Given the description of an element on the screen output the (x, y) to click on. 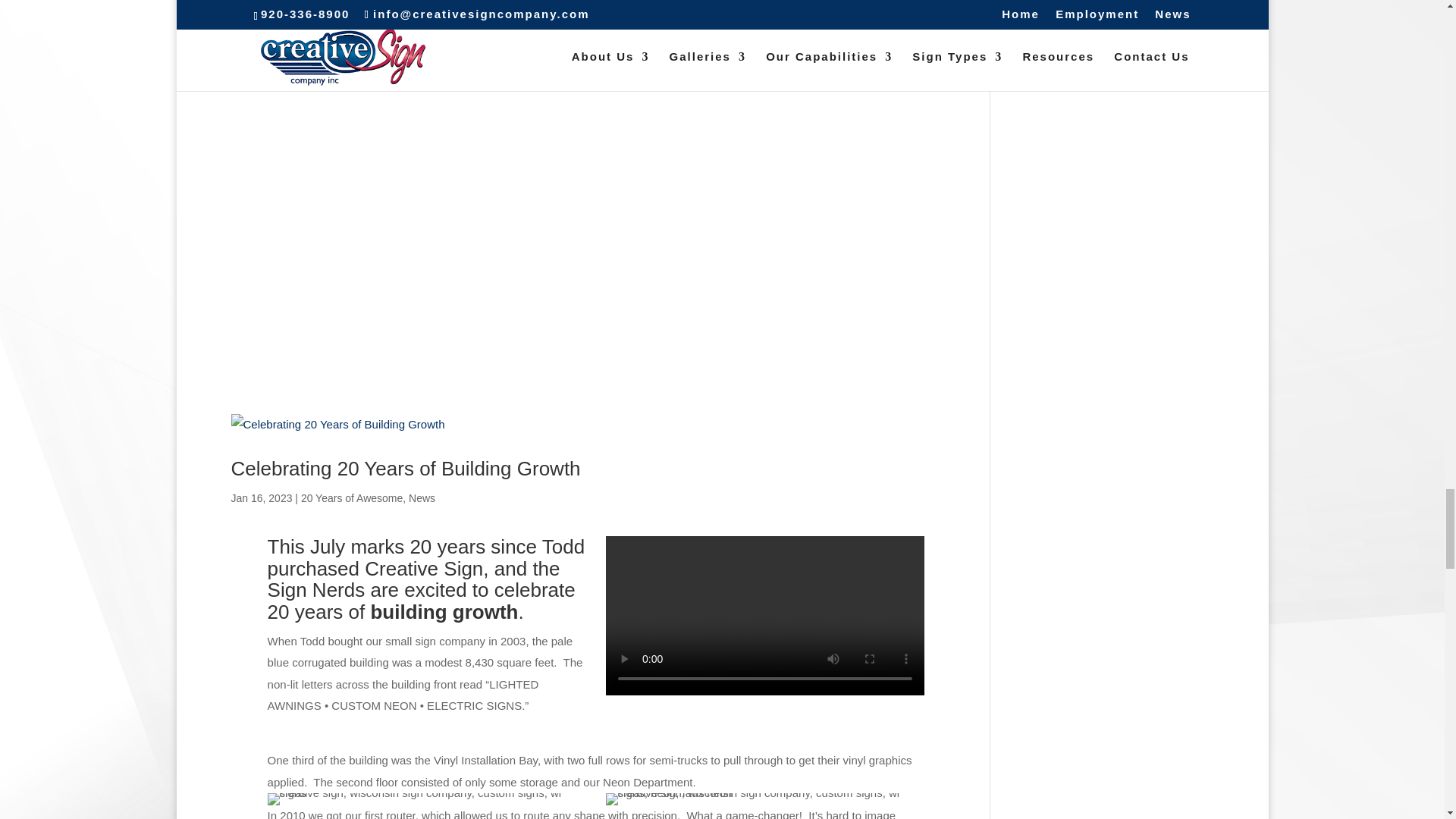
CSletters-2 (764, 799)
WSA Award Winner (426, 799)
